Given the description of an element on the screen output the (x, y) to click on. 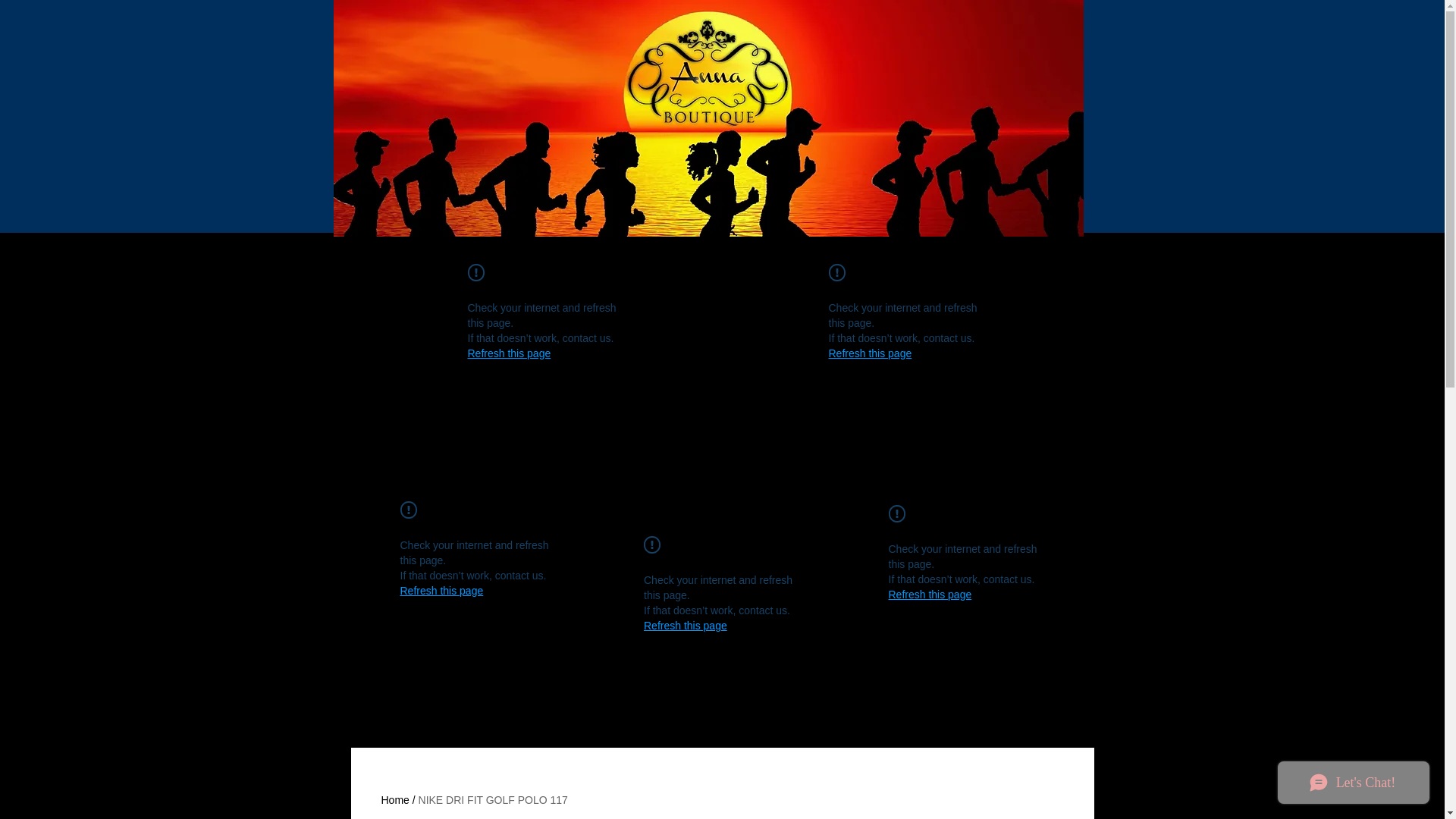
Refresh this page (508, 353)
Home (394, 799)
Refresh this page (684, 625)
Refresh this page (869, 353)
Refresh this page (441, 590)
NIKE DRI FIT GOLF POLO 117 (493, 799)
ADSENSE (503, 124)
Refresh this page (930, 594)
